Given the description of an element on the screen output the (x, y) to click on. 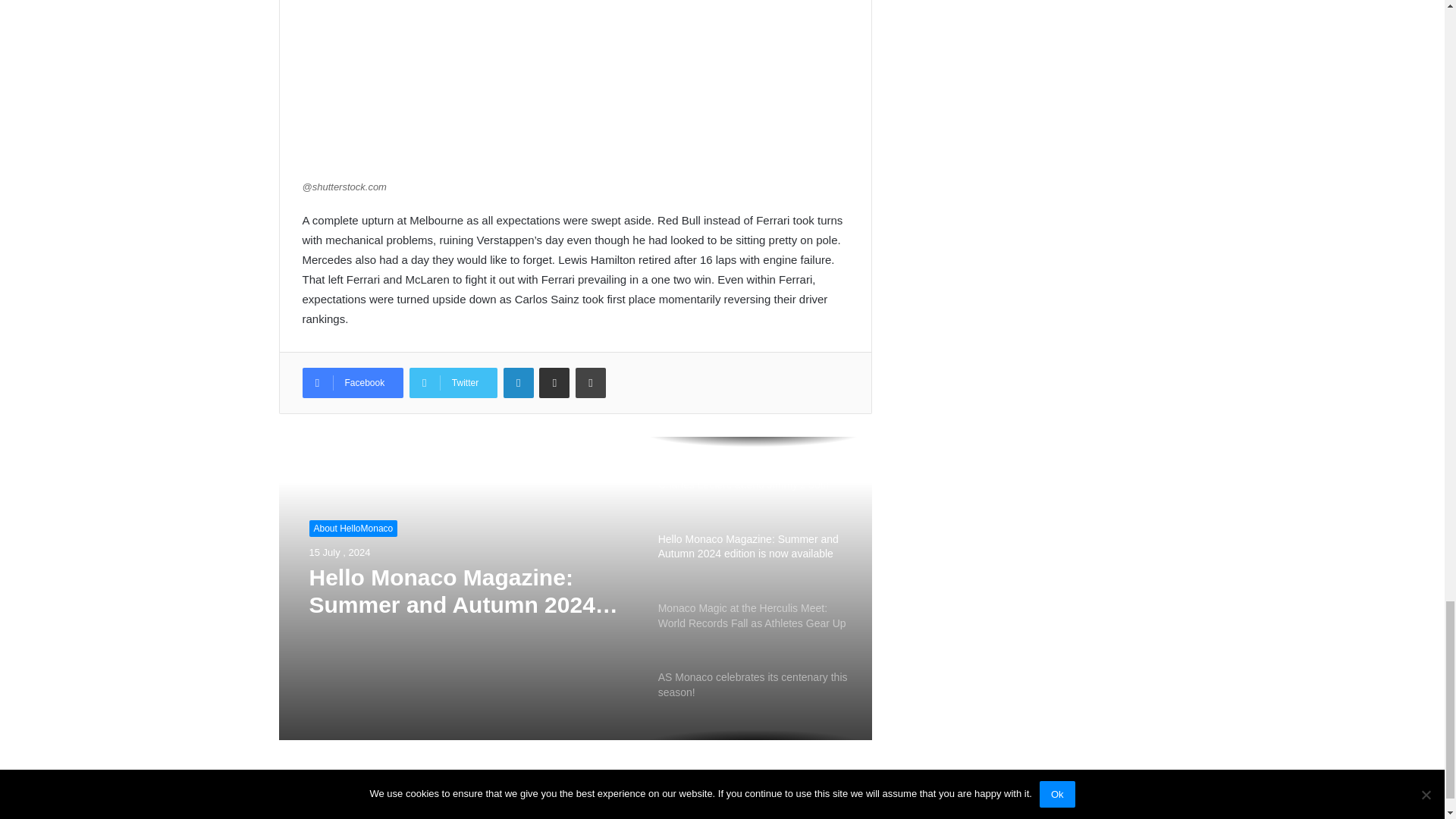
LinkedIn (518, 382)
Twitter (453, 382)
Share via Email (553, 382)
Print (590, 382)
Facebook (352, 382)
